Given the description of an element on the screen output the (x, y) to click on. 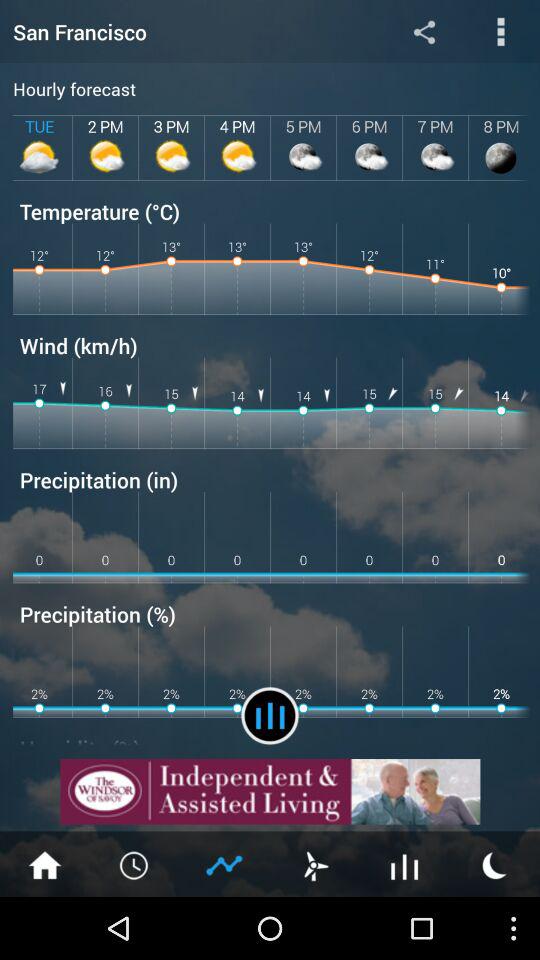
shows menu option (500, 31)
